Given the description of an element on the screen output the (x, y) to click on. 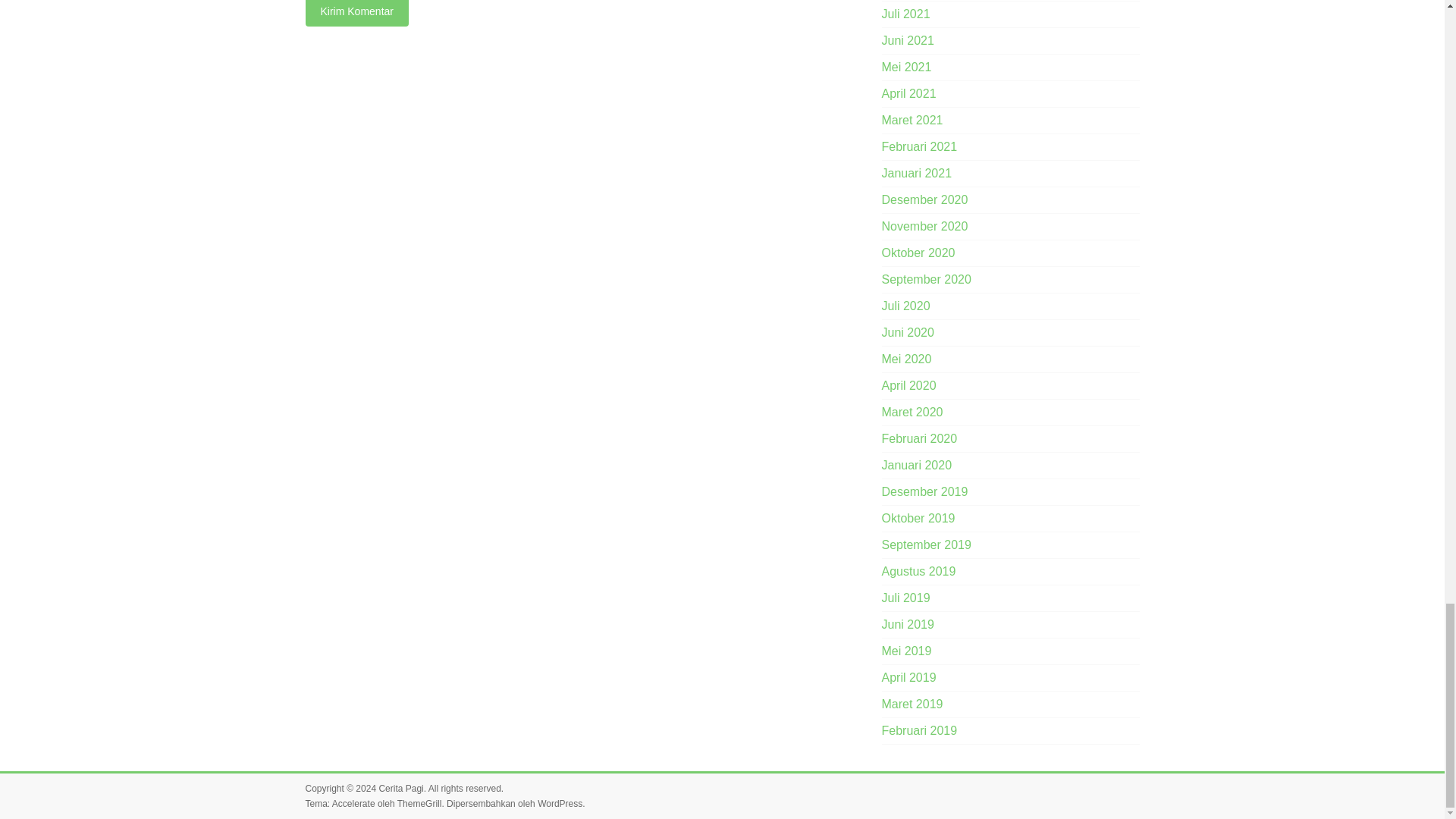
Kirim Komentar (355, 13)
Cerita Pagi (400, 787)
WordPress (559, 803)
Kirim Komentar (355, 13)
Accelerate (353, 803)
